Given the description of an element on the screen output the (x, y) to click on. 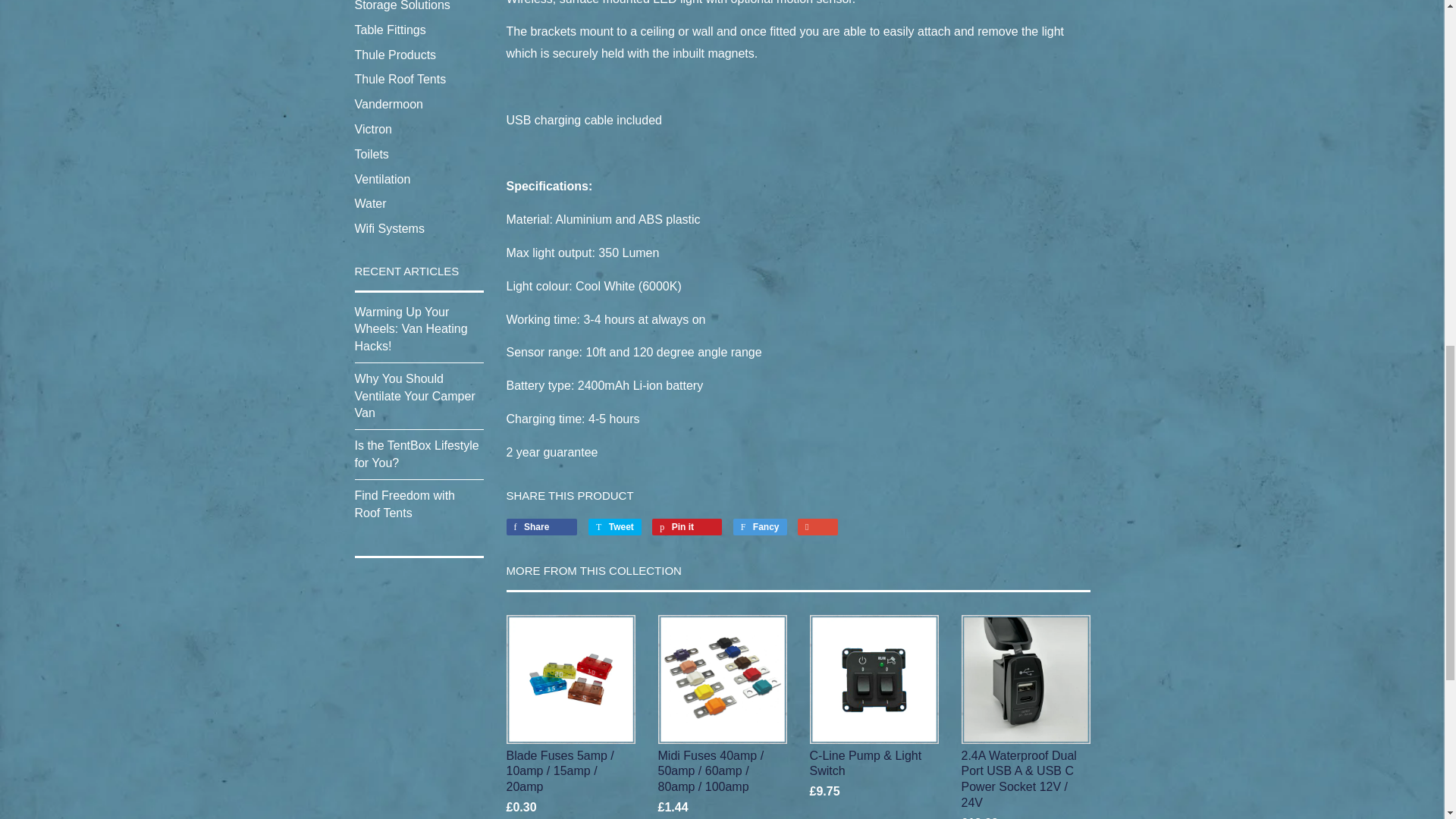
Pin on Pinterest (687, 526)
Add to Fancy (760, 526)
Tweet on Twitter (615, 526)
Share on Facebook (542, 526)
